Given the description of an element on the screen output the (x, y) to click on. 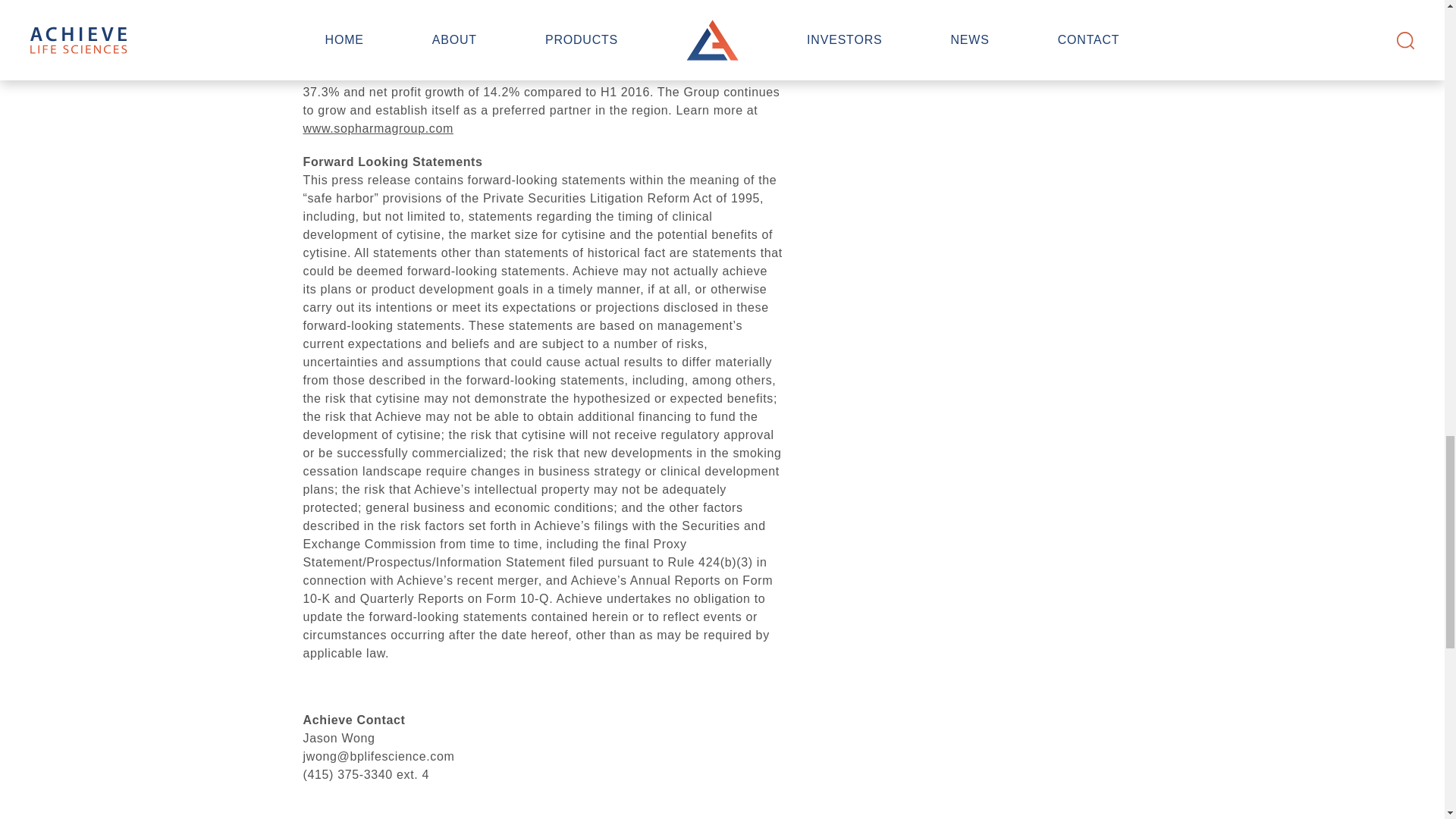
www.sopharmagroup.com (377, 128)
